Given the description of an element on the screen output the (x, y) to click on. 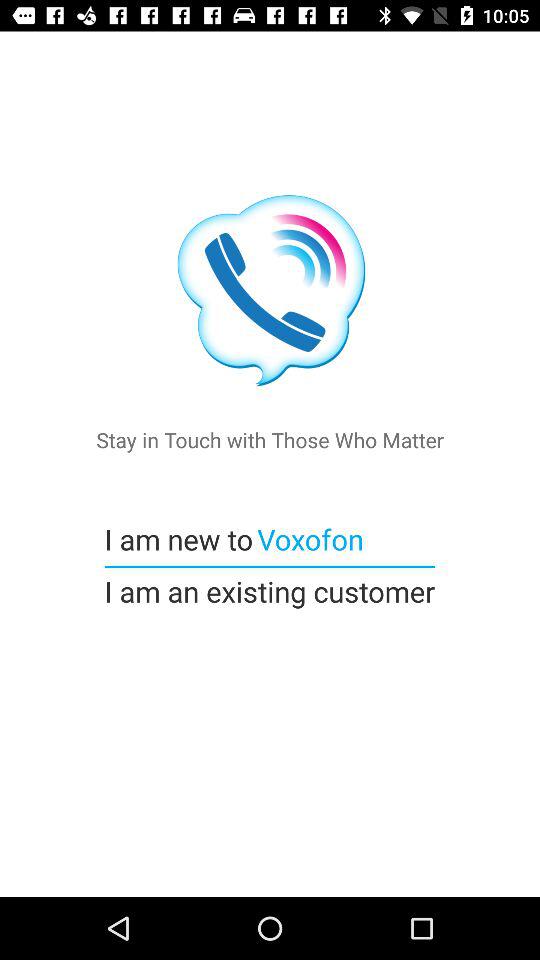
tap voxofon (308, 538)
